Given the description of an element on the screen output the (x, y) to click on. 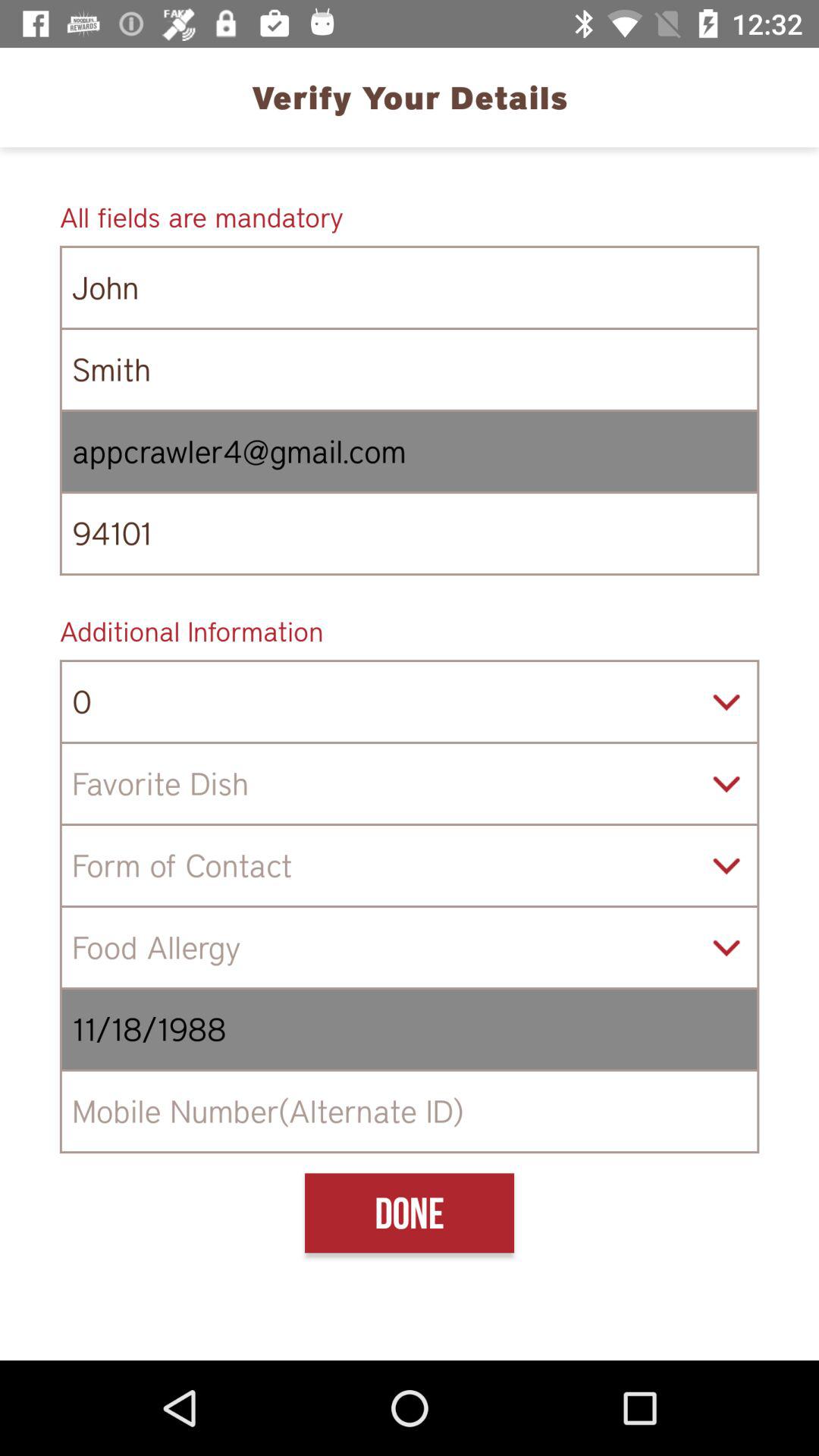
launch the icon below the all fields are icon (409, 287)
